Given the description of an element on the screen output the (x, y) to click on. 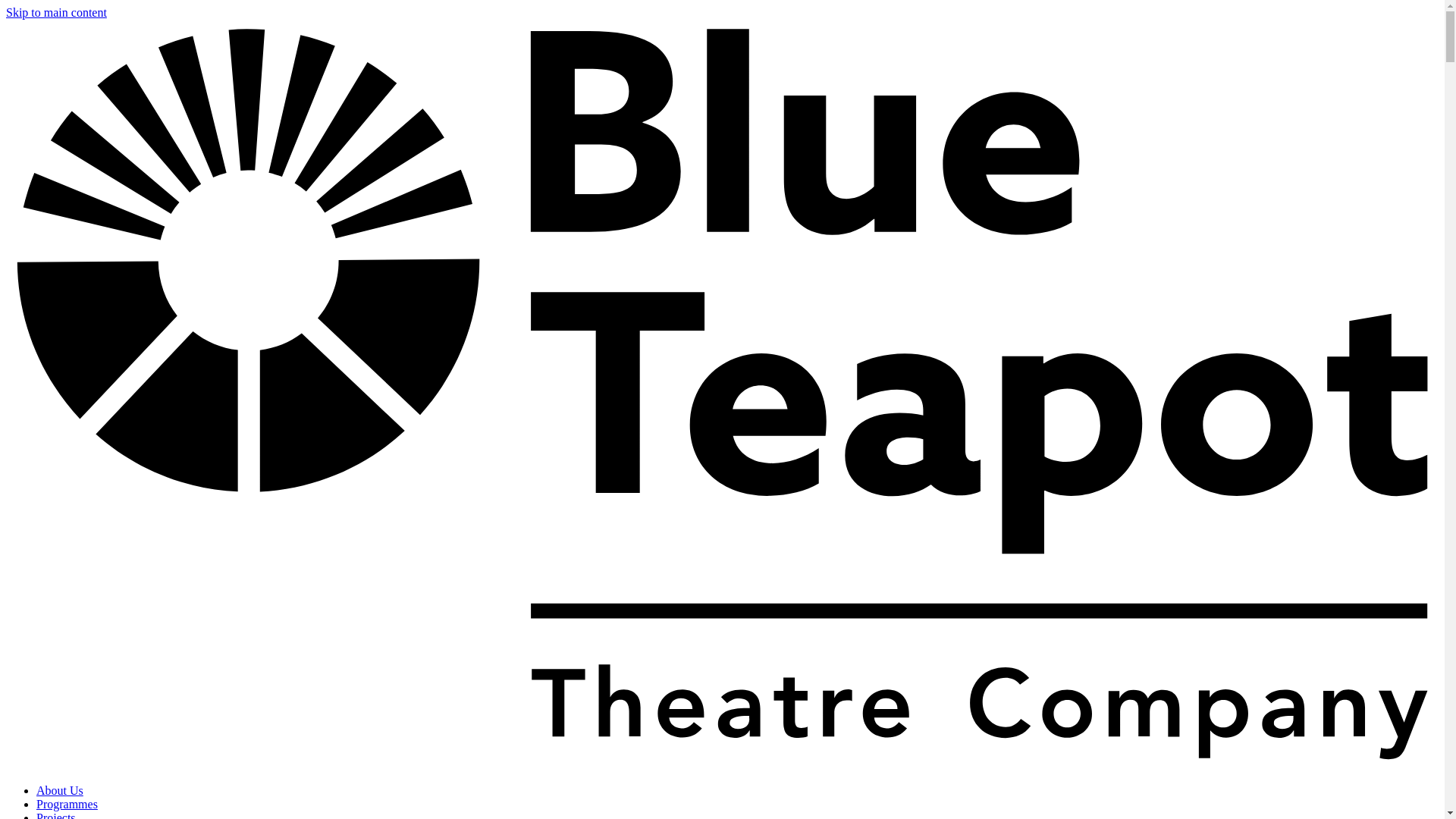
Skip to main content (55, 11)
Projects (55, 815)
About Us (59, 789)
Programmes (66, 803)
